Given the description of an element on the screen output the (x, y) to click on. 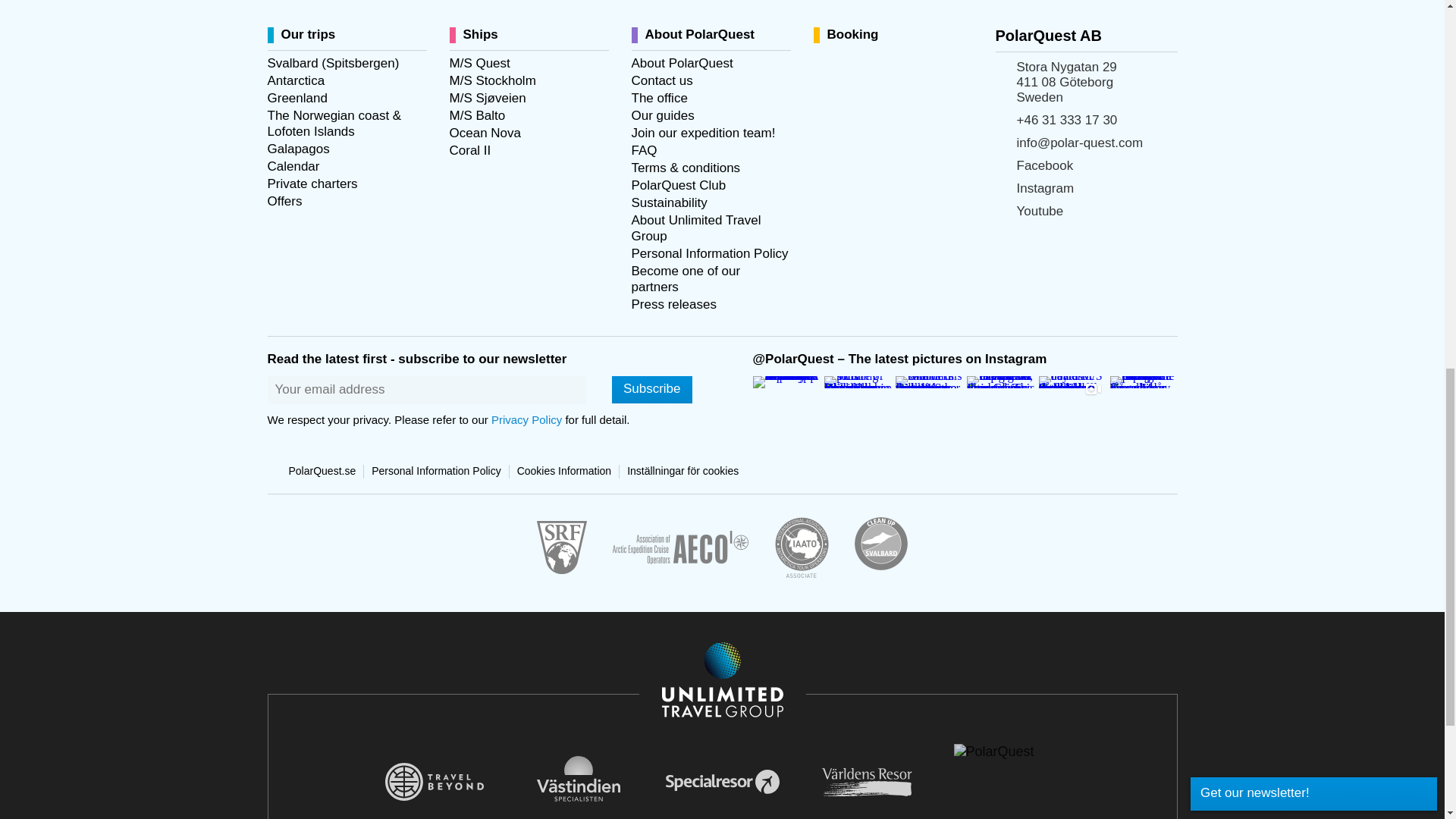
Our trips (304, 35)
Calendar (292, 166)
Greenland (296, 98)
Offers (283, 201)
Ships (476, 35)
PolarQuest (1010, 751)
Travel Beyond (434, 781)
Antarctica (295, 80)
Galapagos (297, 148)
Specialresor (721, 781)
Private charters (311, 183)
Unlimited Travel Group (722, 681)
